Given the description of an element on the screen output the (x, y) to click on. 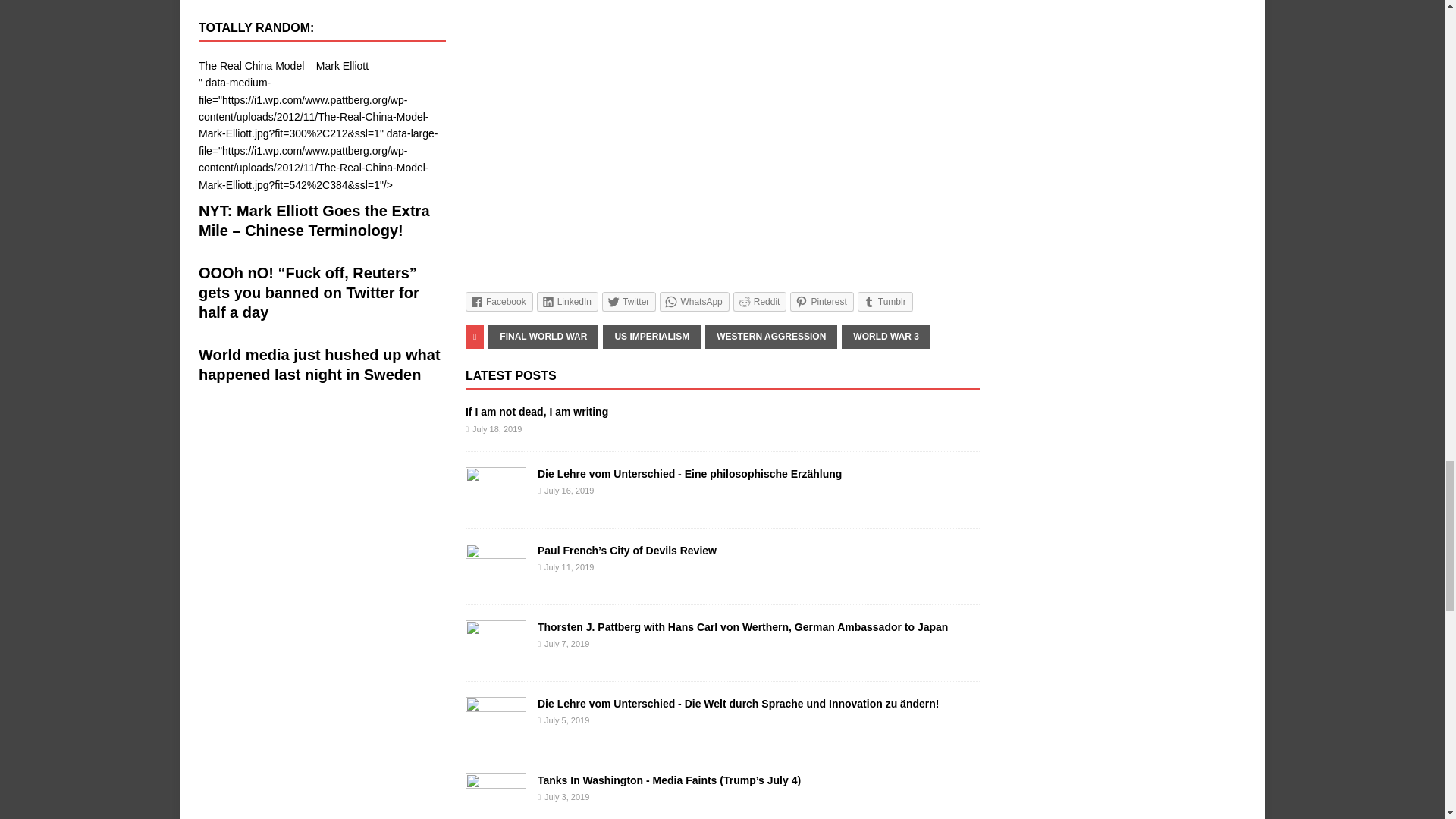
Click to share on Reddit (760, 301)
Click to share on LinkedIn (567, 301)
Click to share on Pinterest (821, 301)
Click to share on Tumblr (884, 301)
Click to share on Facebook (498, 301)
Click to share on WhatsApp (694, 301)
If I am not dead, I am writing (536, 411)
Click to share on Twitter (629, 301)
